Given the description of an element on the screen output the (x, y) to click on. 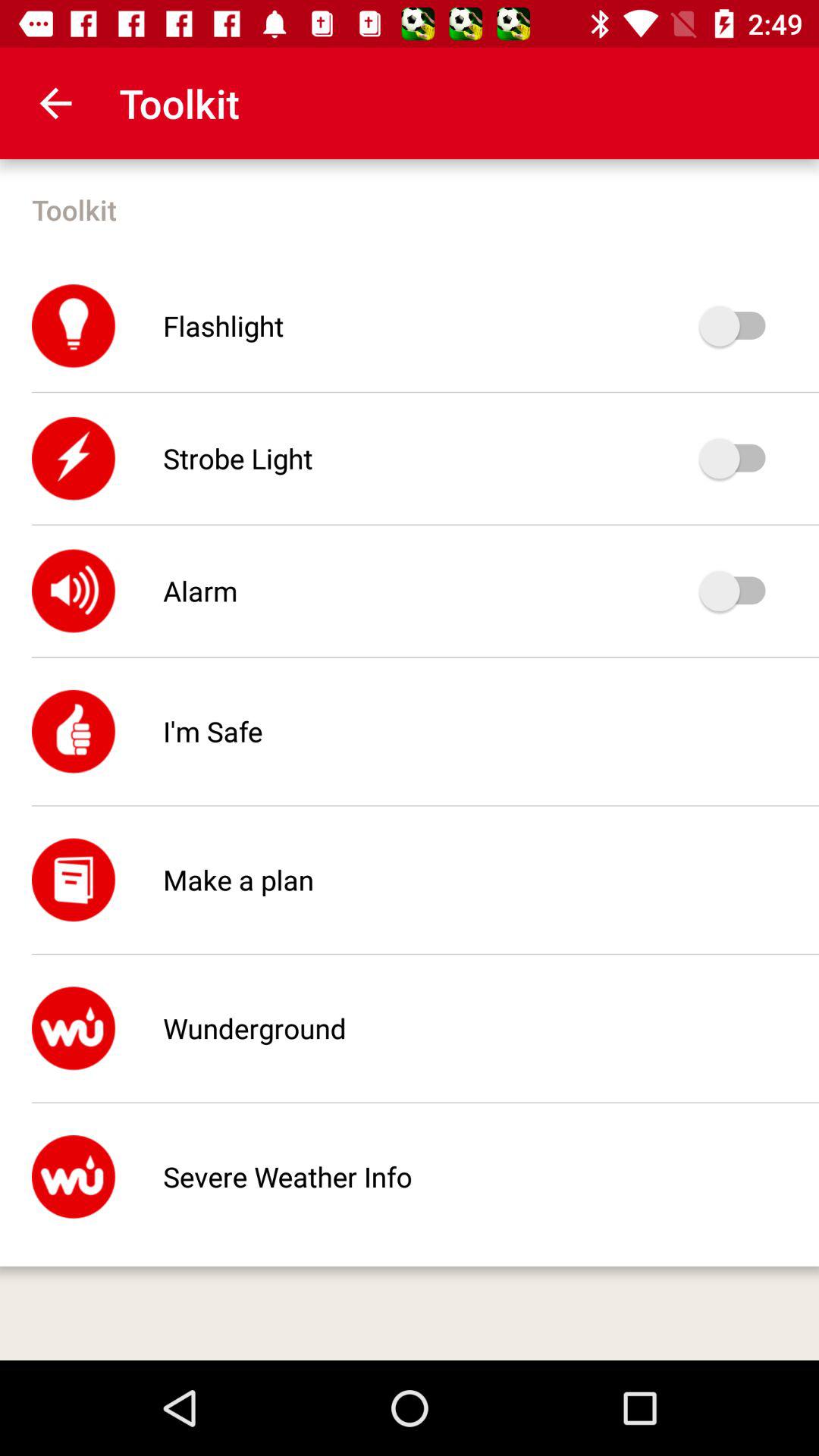
click the icon above toolkit item (55, 103)
